Given the description of an element on the screen output the (x, y) to click on. 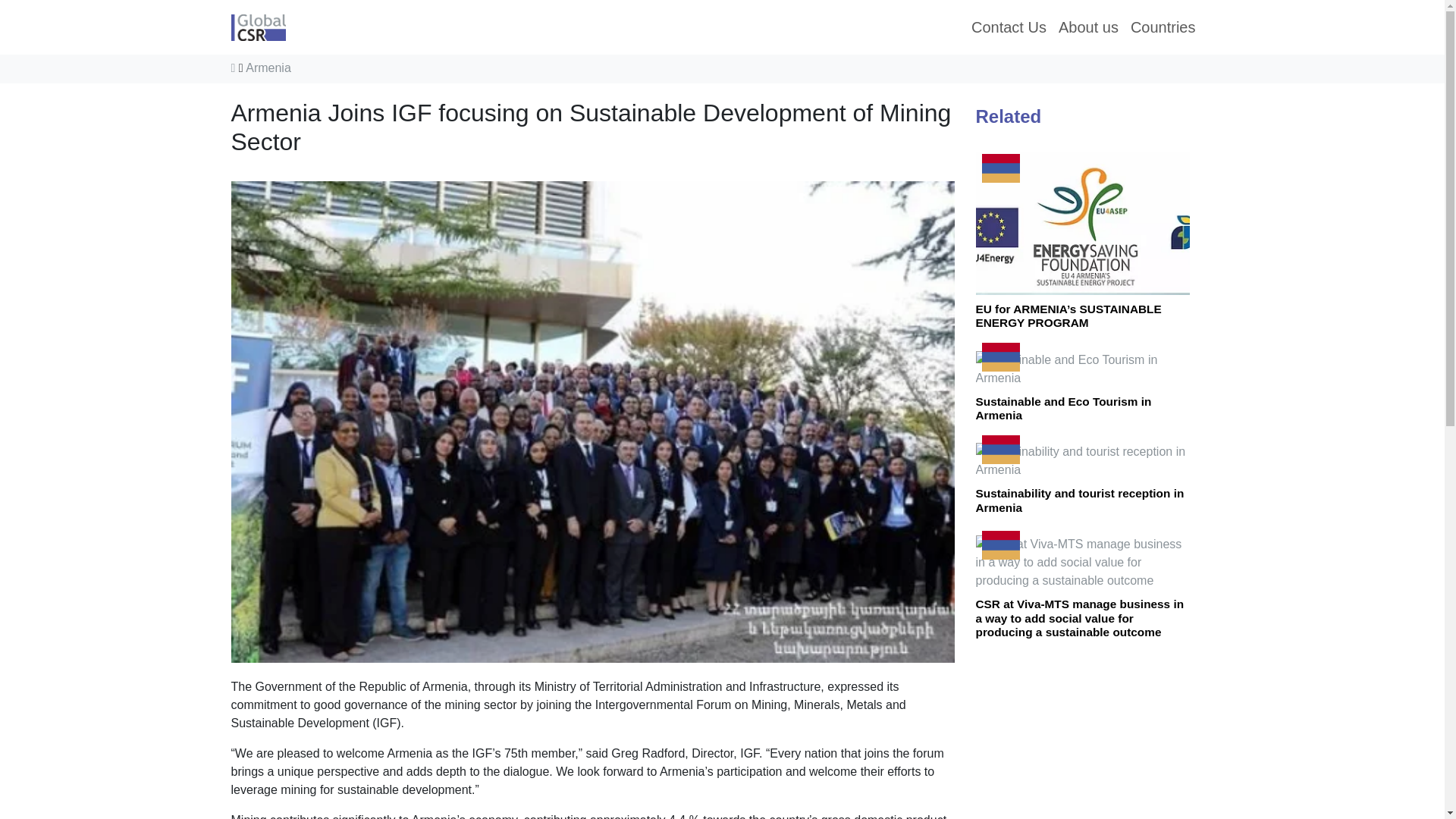
Countries (1163, 27)
Armenia (268, 67)
About us (1088, 27)
Contact Us (1008, 27)
